Given the description of an element on the screen output the (x, y) to click on. 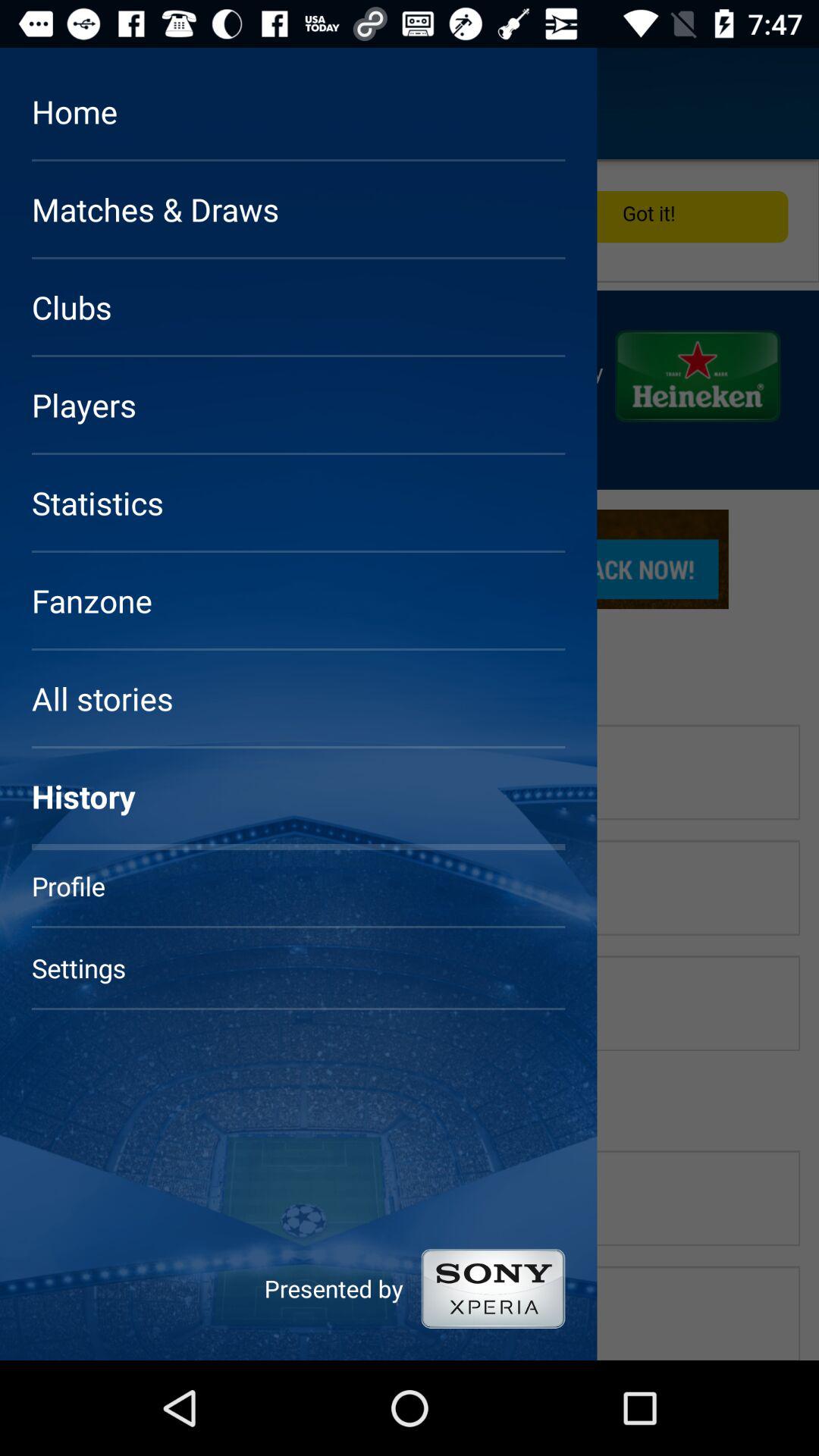
go to home (55, 103)
